Given the description of an element on the screen output the (x, y) to click on. 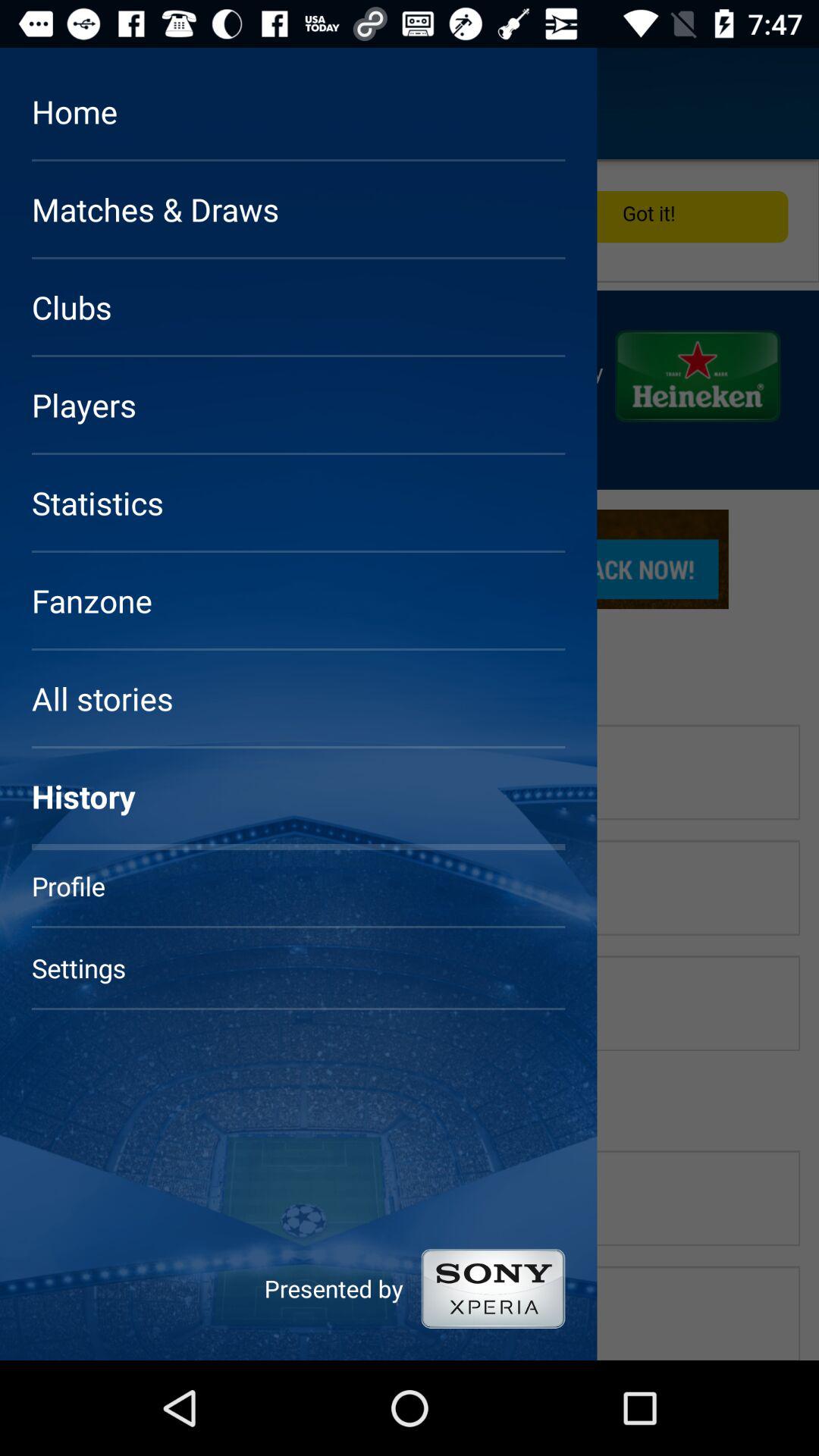
go to home (55, 103)
